Given the description of an element on the screen output the (x, y) to click on. 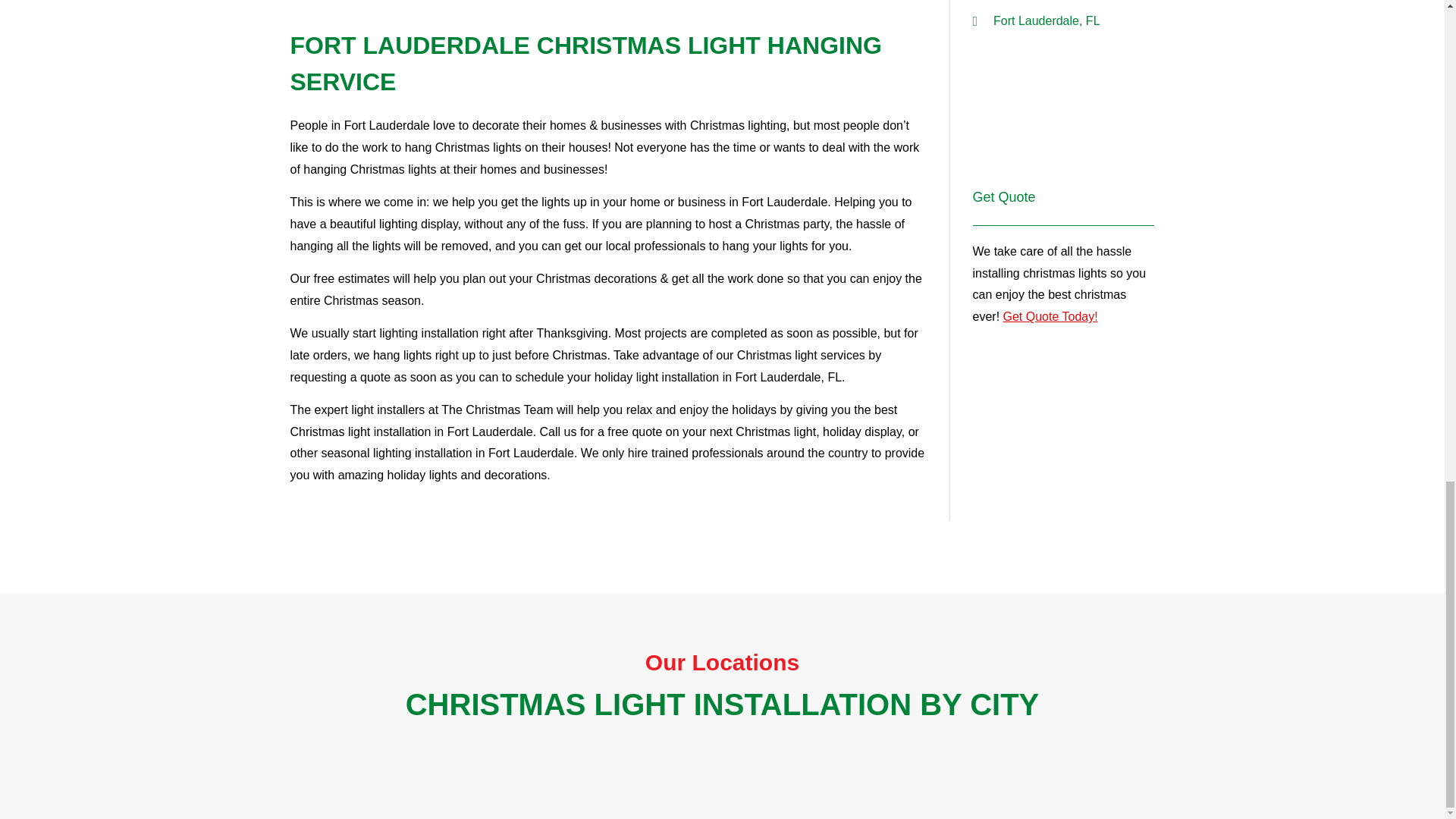
Get Quote Today! (1050, 316)
Fort Lauderdale, FL (1063, 112)
